Given the description of an element on the screen output the (x, y) to click on. 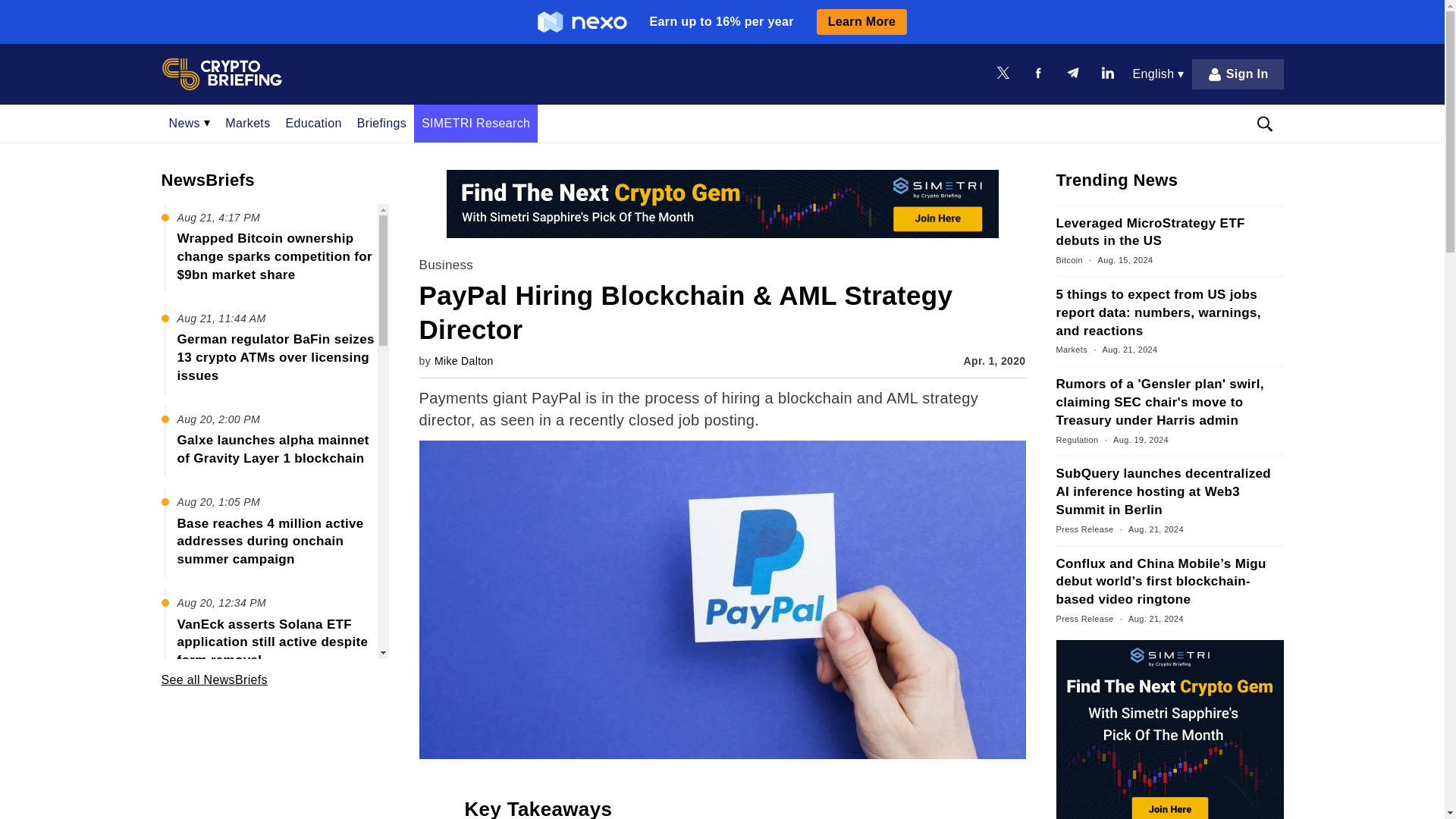
News (188, 123)
Sign In (1238, 73)
Sign In (1238, 73)
Learn More (861, 22)
